Given the description of an element on the screen output the (x, y) to click on. 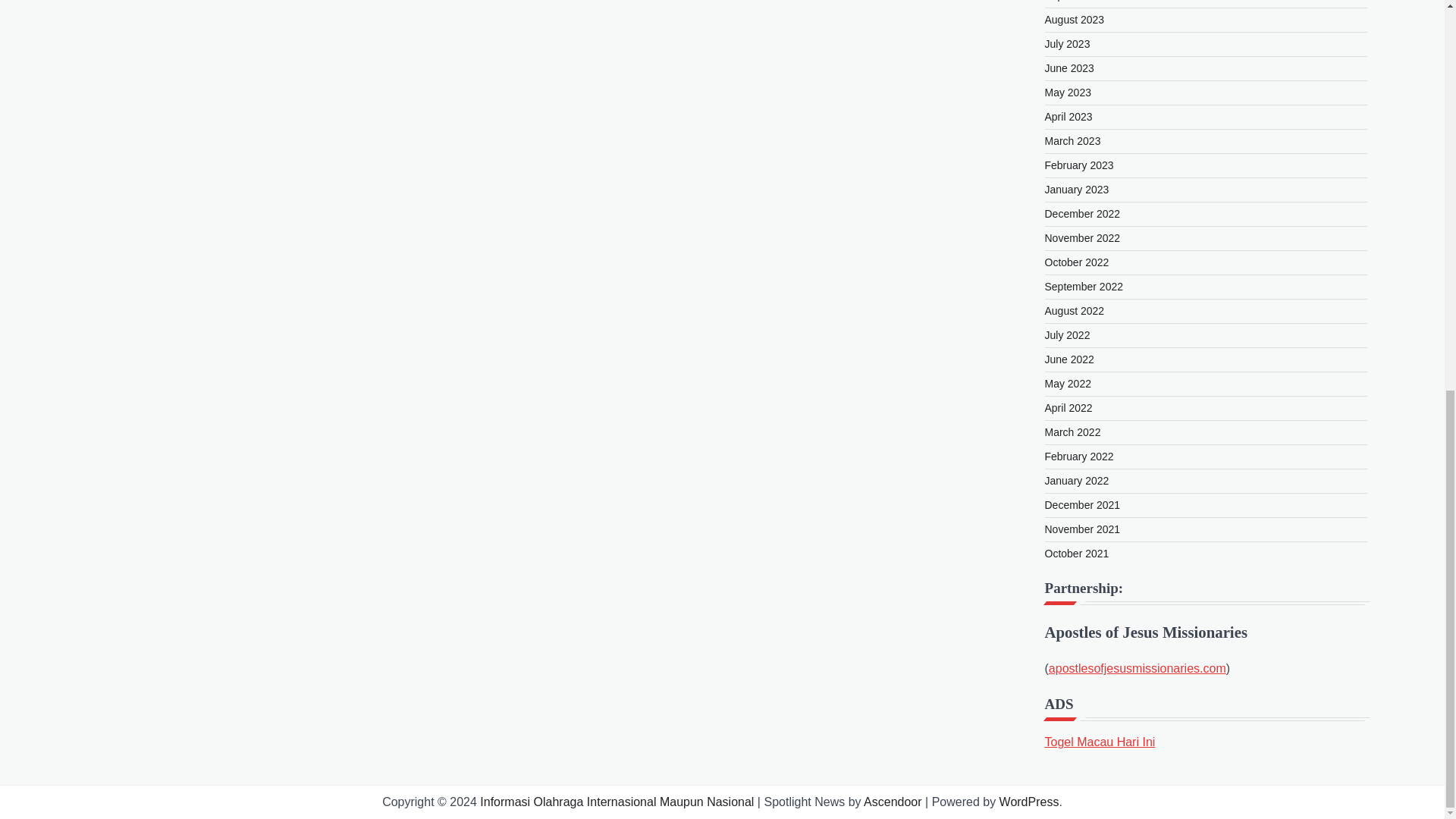
January 2023 (1077, 189)
May 2023 (1067, 92)
August 2023 (1075, 19)
June 2023 (1069, 68)
July 2023 (1067, 43)
April 2023 (1069, 116)
March 2023 (1072, 141)
February 2023 (1079, 164)
September 2023 (1084, 0)
